Given the description of an element on the screen output the (x, y) to click on. 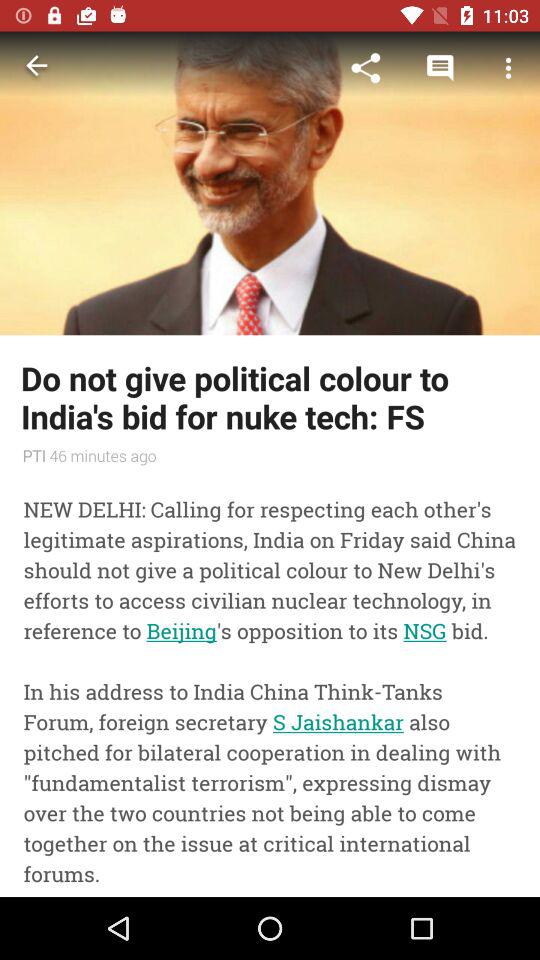
open icon below pti 46 minutes item (270, 683)
